Given the description of an element on the screen output the (x, y) to click on. 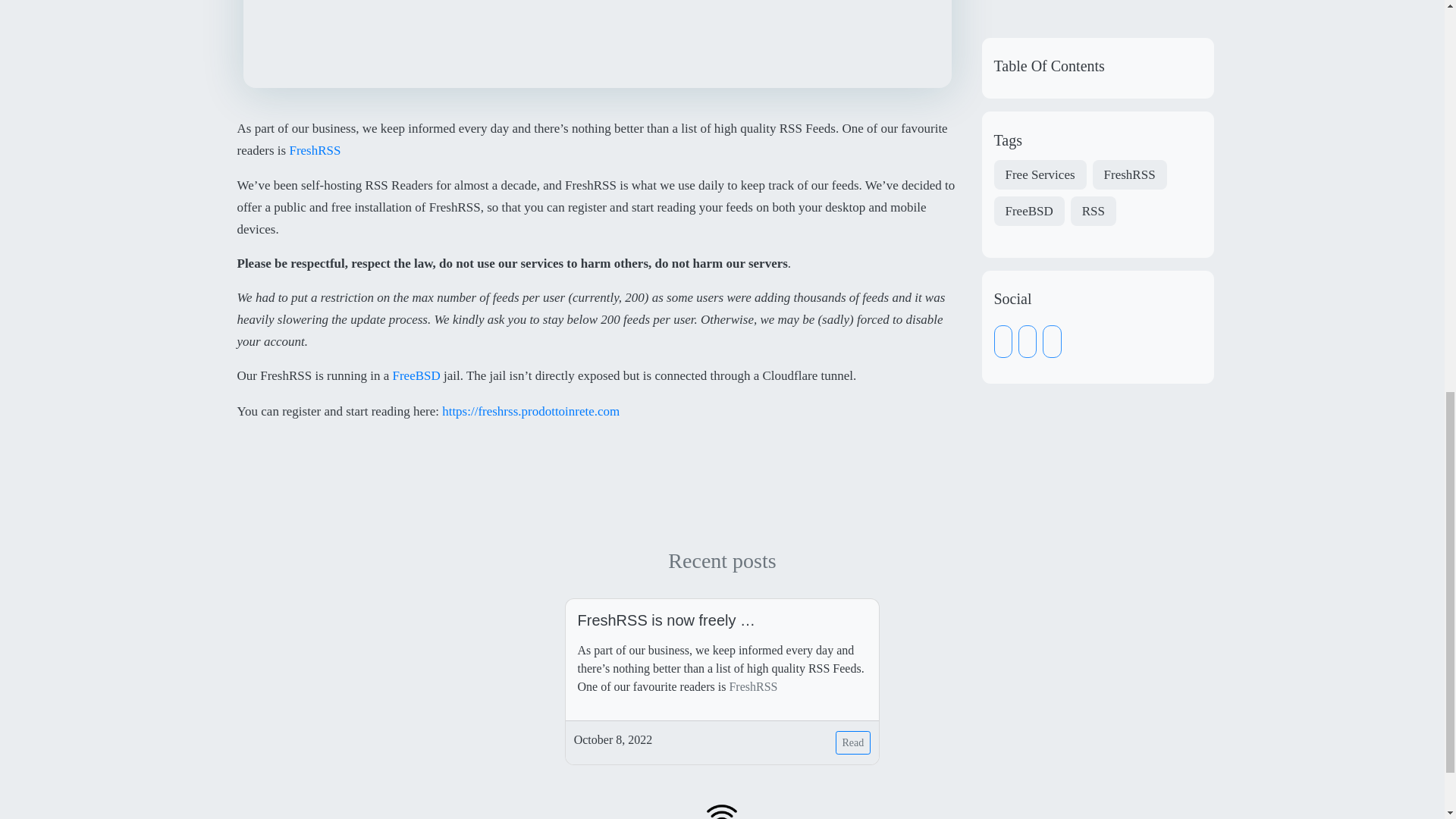
FreshRSS is now freely available (722, 619)
FreeBSD (415, 377)
prodottoinrete.it Loves Open Source (721, 813)
FreshRSS (753, 686)
FreshRSS (314, 151)
Read (852, 742)
